Given the description of an element on the screen output the (x, y) to click on. 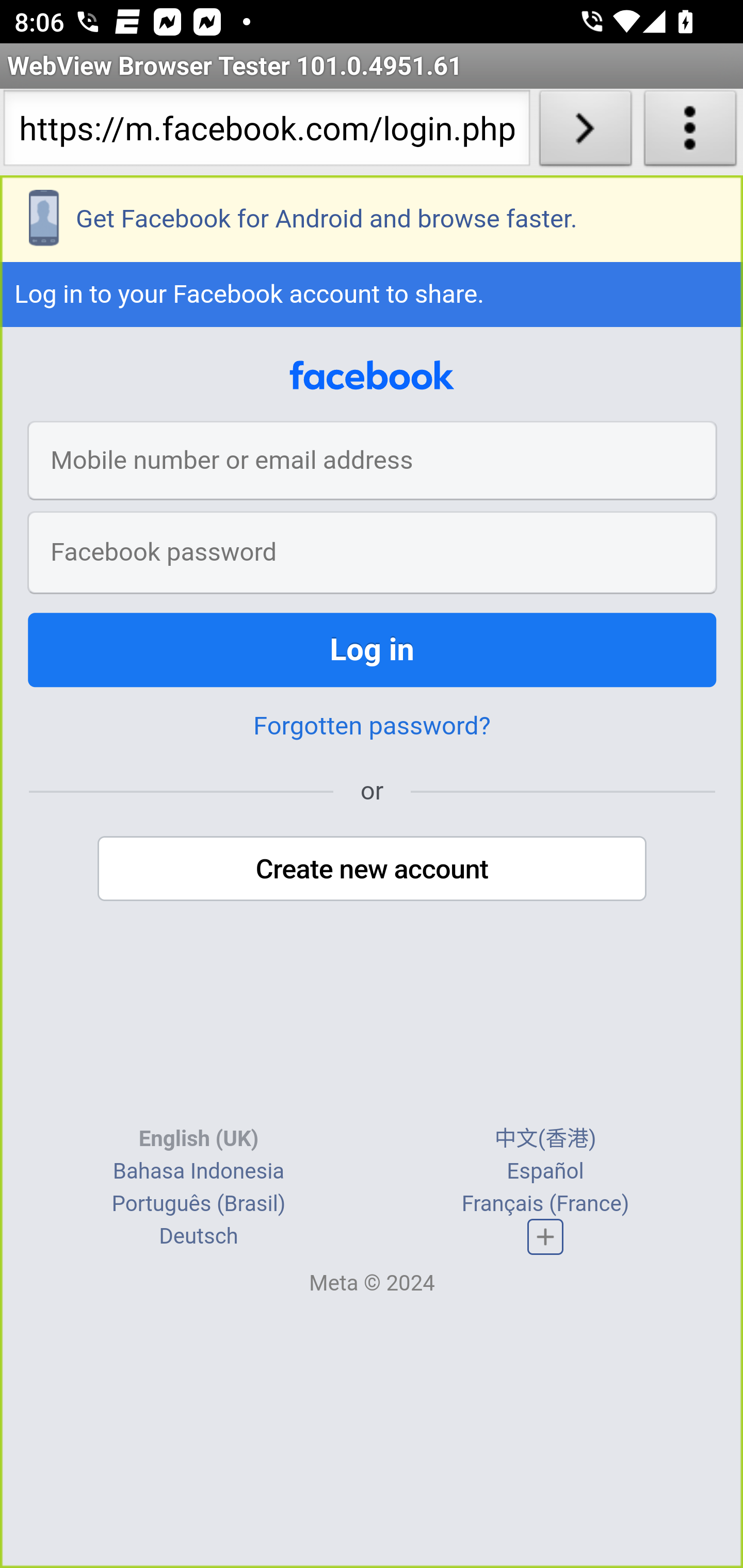
Load URL (585, 132)
About WebView (690, 132)
Get Facebook for Android and browse faster. (371, 219)
facebook (372, 375)
Log in (372, 649)
Forgotten password? (371, 725)
Create new account (372, 868)
中文(香港) (544, 1138)
Bahasa Indonesia (198, 1170)
Español (545, 1170)
Português (Brasil) (197, 1203)
Français (France) (544, 1203)
Complete list of languages (545, 1235)
Deutsch (198, 1236)
